Given the description of an element on the screen output the (x, y) to click on. 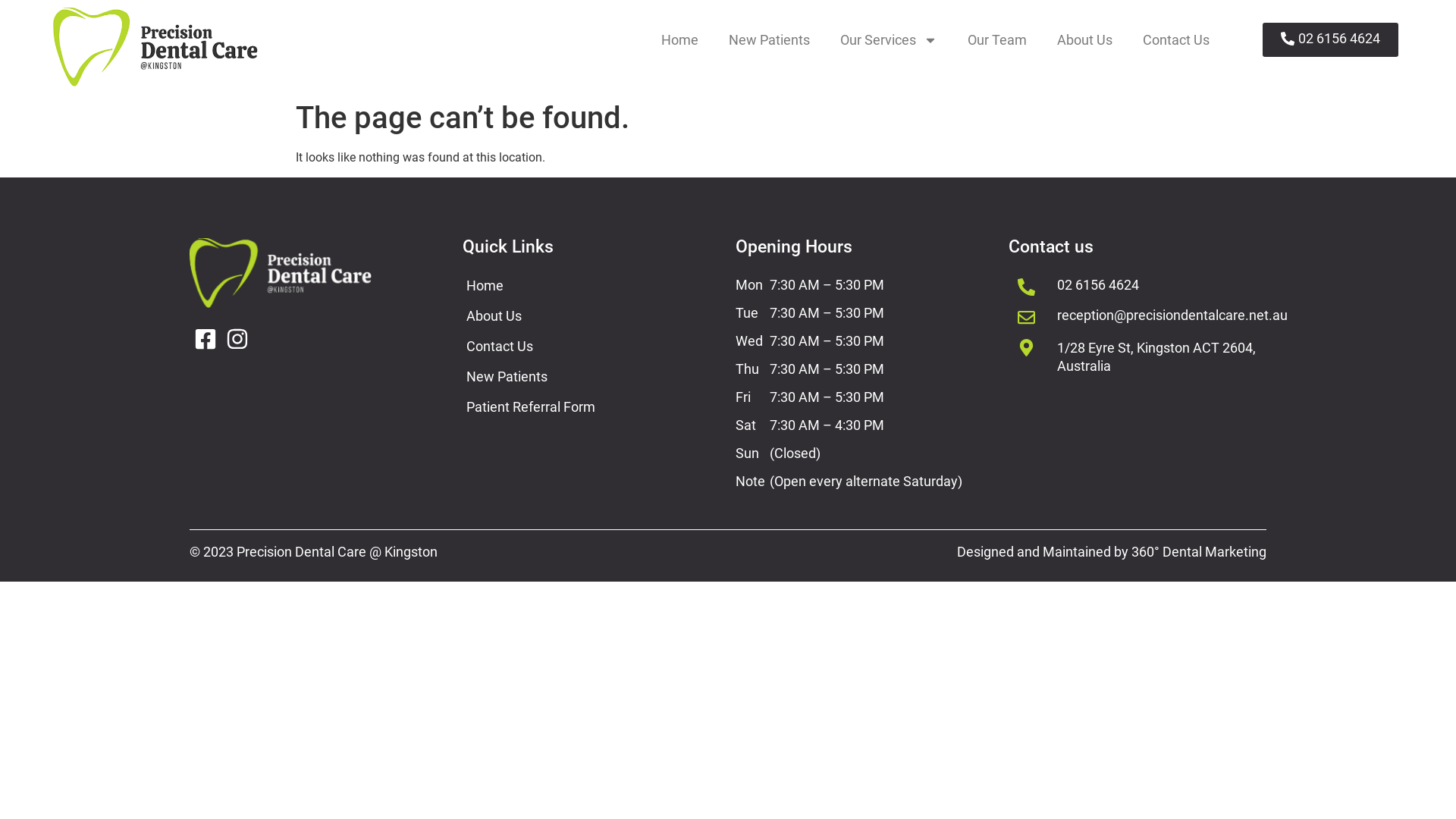
New Patients Element type: text (769, 39)
About Us Element type: text (591, 316)
Contact Us Element type: text (1175, 39)
02 6156 4624 Element type: text (1330, 39)
1/28 Eyre St, Kingston ACT 2604, Australia Element type: text (1156, 356)
Patient Referral Form Element type: text (591, 407)
reception@precisiondentalcare.net.au Element type: text (1172, 315)
Home Element type: text (591, 285)
Home Element type: text (679, 39)
New Patients Element type: text (591, 376)
02 6156 4624 Element type: text (1098, 284)
Our Team Element type: text (996, 39)
Our Services Element type: text (888, 39)
About Us Element type: text (1084, 39)
Contact Us Element type: text (591, 346)
